Given the description of an element on the screen output the (x, y) to click on. 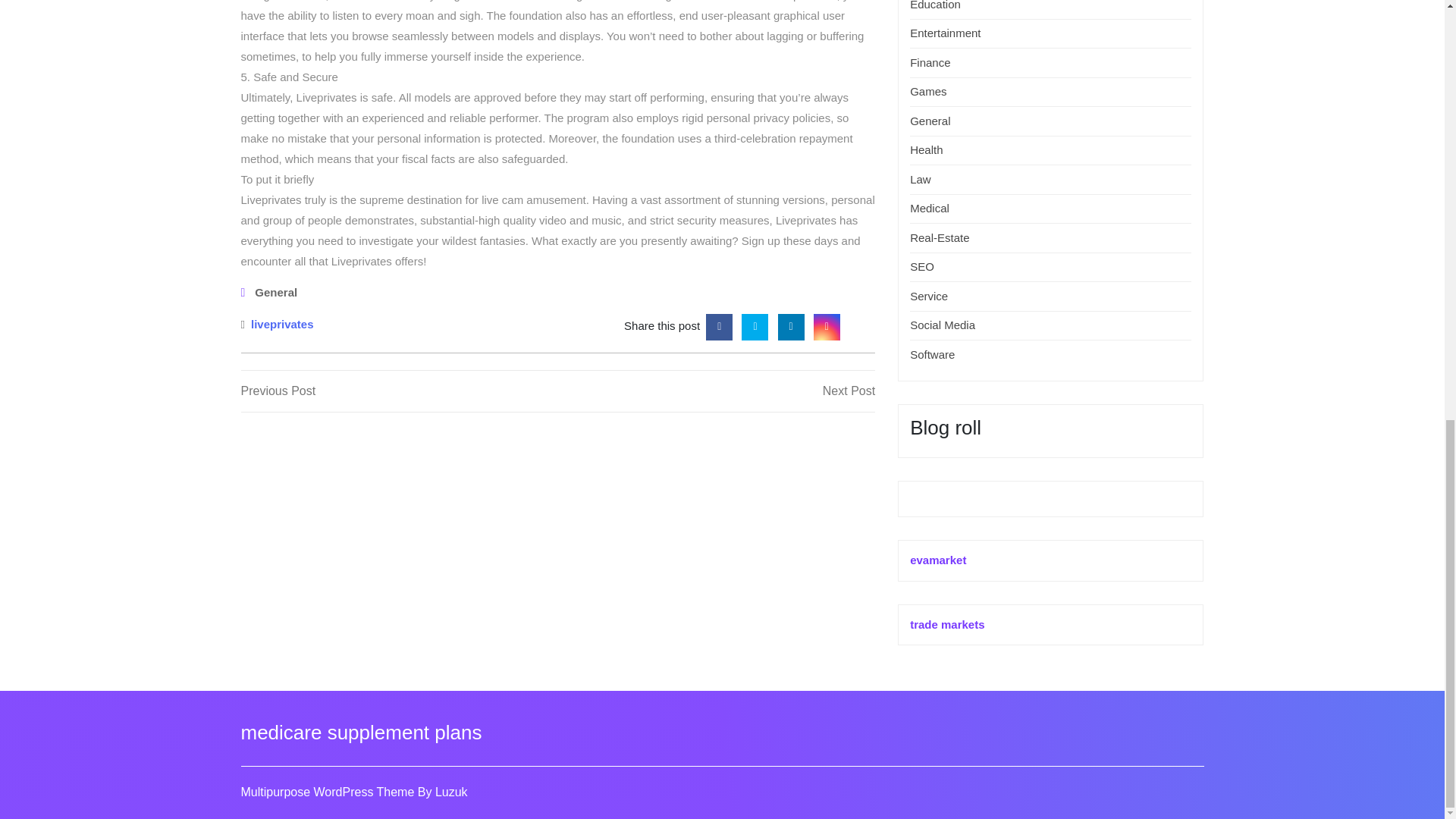
Linkedin (791, 325)
General (716, 391)
Social Media (930, 120)
Software (942, 324)
General (932, 354)
Health (275, 293)
Entertainment (399, 391)
Finance (926, 149)
